Given the description of an element on the screen output the (x, y) to click on. 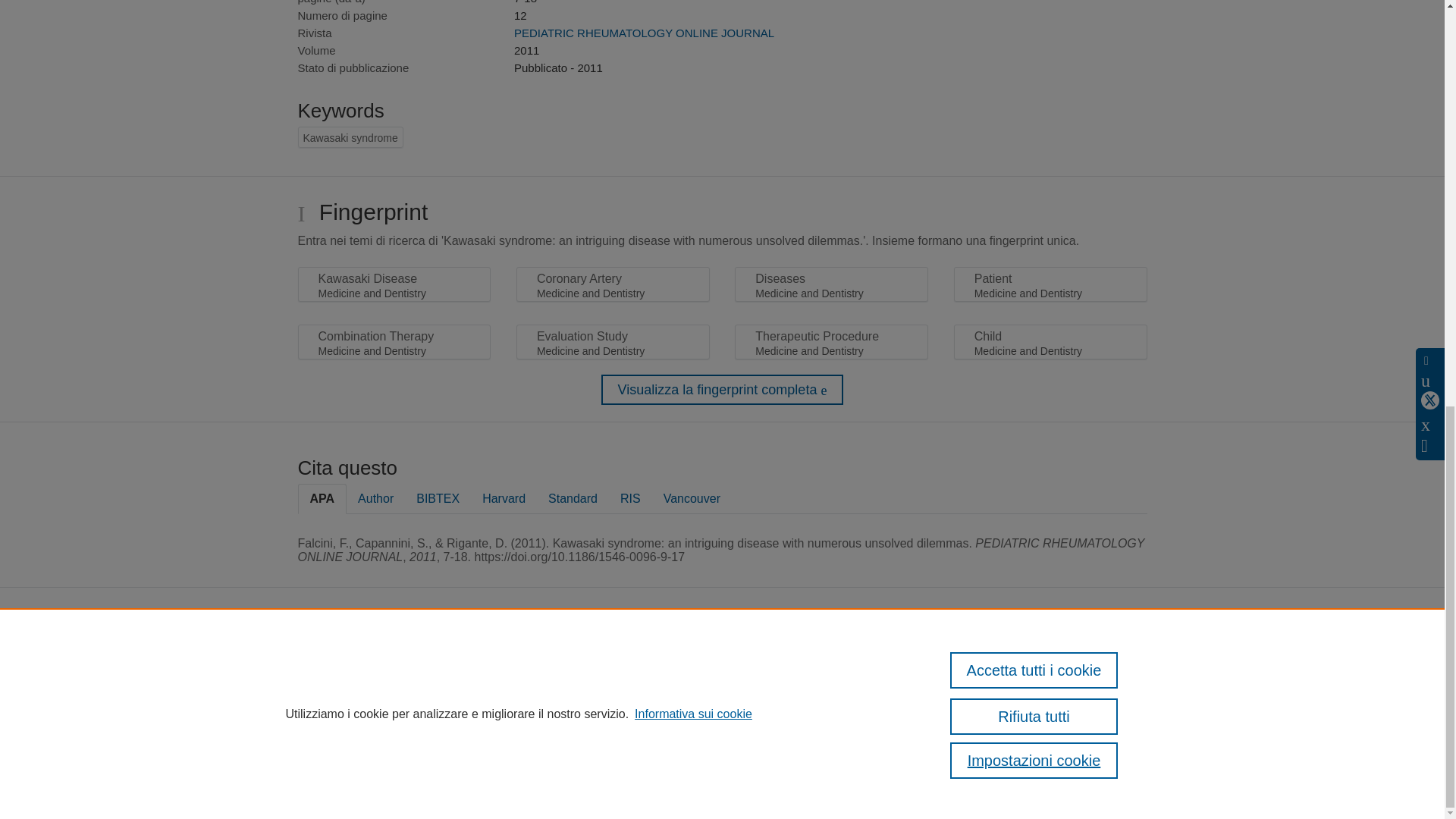
Scopus (644, 663)
Visualizza la fingerprint completa (722, 389)
PEDIATRIC RHEUMATOLOGY ONLINE JOURNAL (643, 32)
Pure (612, 663)
